Given the description of an element on the screen output the (x, y) to click on. 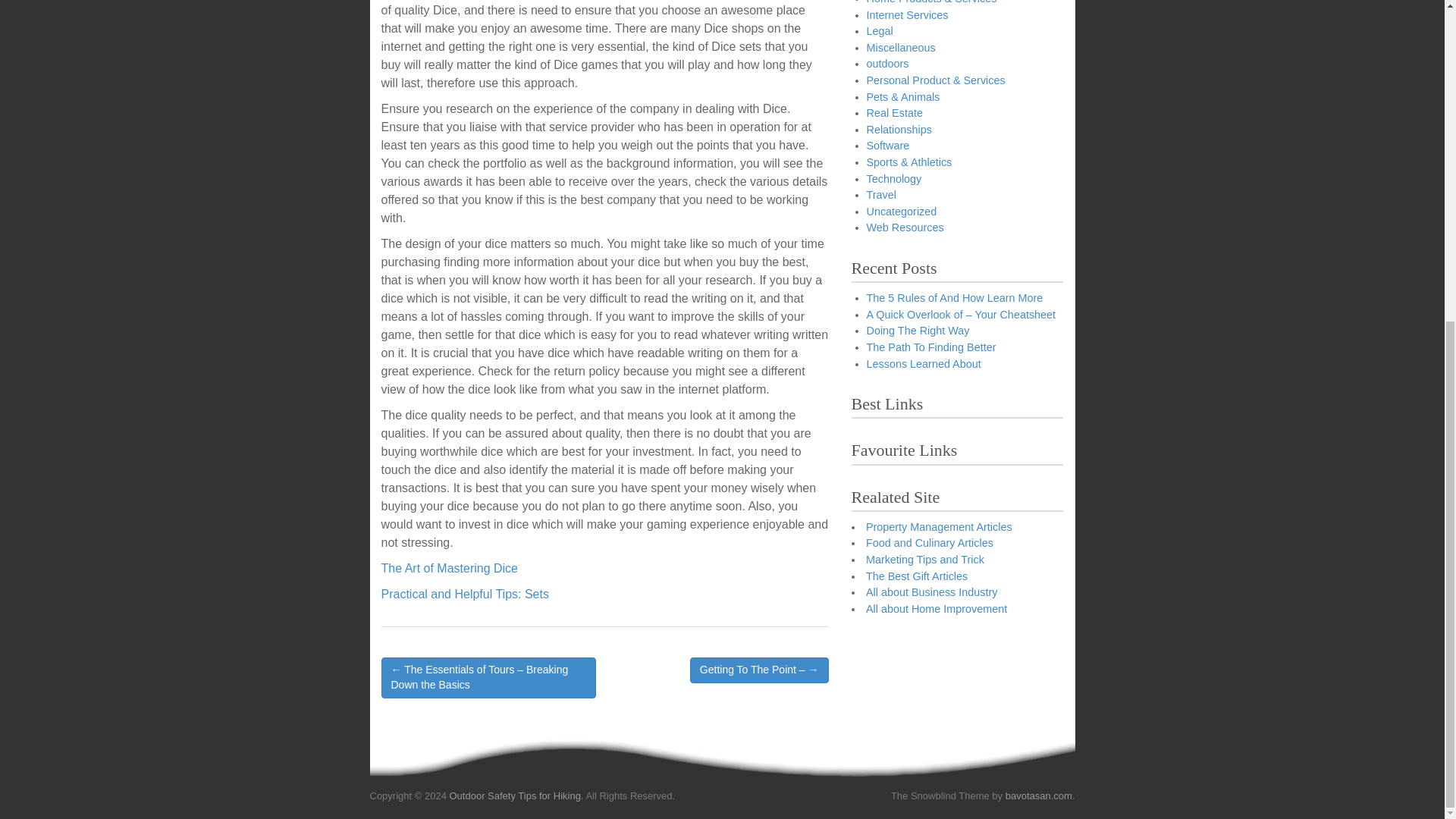
outdoors (887, 63)
Software (887, 145)
Technology (893, 178)
Uncategorized (901, 211)
Real Estate (893, 112)
Practical and Helpful Tips: Sets (464, 594)
Legal (879, 30)
Internet Services (906, 14)
The Art of Mastering Dice (449, 567)
Relationships (898, 129)
